Given the description of an element on the screen output the (x, y) to click on. 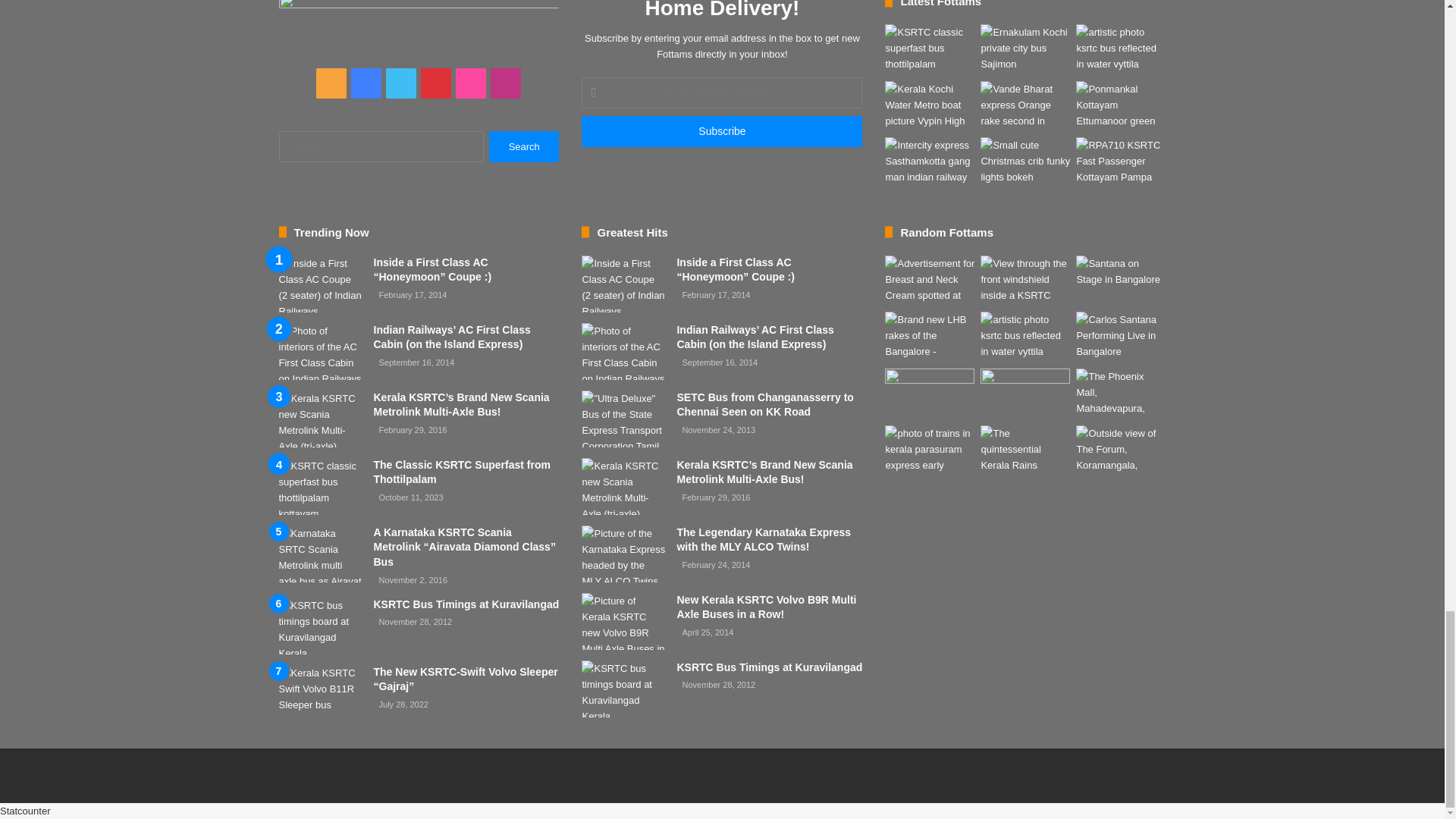
Search (524, 146)
Search (524, 146)
Subscribe (720, 131)
